Given the description of an element on the screen output the (x, y) to click on. 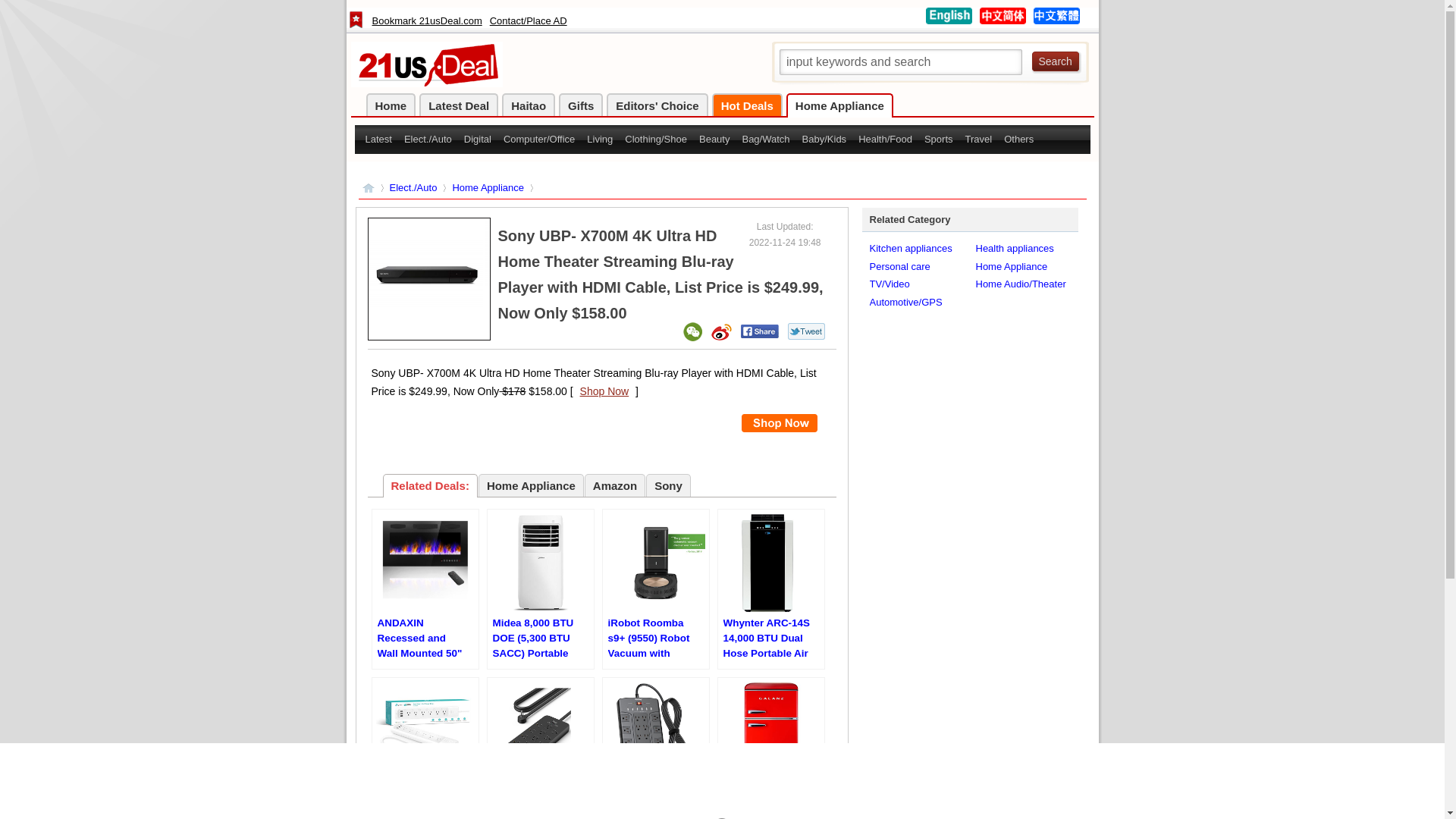
Gifts Element type: text (580, 105)
21usDeal.com Element type: hover (1055, 20)
TV/Video Element type: text (889, 283)
Baby/Kids Element type: text (824, 139)
Health/Food Element type: text (885, 139)
21usDeal.com Element type: text (368, 187)
Sports Element type: text (938, 139)
Health appliances Element type: text (1014, 248)
Living Element type: text (599, 139)
Search Element type: text (1055, 61)
Home Audio/Theater Element type: text (1020, 283)
Bookmark 21usDeal.com Element type: text (426, 23)
Shop Now Element type: hover (779, 423)
Home Element type: text (390, 105)
Sony Element type: text (668, 485)
Beauty Element type: text (714, 139)
Home Appliance Element type: text (839, 105)
Share on FaceBook Element type: hover (759, 331)
Contact/Place AD Element type: text (528, 23)
Others Element type: text (1018, 139)
Share on Twitter Element type: hover (805, 331)
Kitchen appliances Element type: text (910, 248)
Clothing/Shoe Element type: text (655, 139)
Share on Weibo Element type: hover (721, 332)
Related Deals: Element type: text (429, 485)
Hot Deals Element type: text (747, 105)
Bag/Watch Element type: text (765, 139)
Computer/Office Element type: text (538, 139)
21usDeal.com Element type: hover (1002, 20)
Latest Element type: text (378, 139)
Latest Deal Element type: text (458, 105)
Automotive/GPS Element type: text (905, 301)
 input keywords and search Element type: text (900, 62)
21usDeal.com Element type: hover (948, 20)
Home Appliance Element type: text (487, 187)
Personal care Element type: text (899, 266)
Home Appliance Element type: text (1011, 266)
Share on Wechat Element type: hover (691, 331)
Home Appliance Element type: text (530, 485)
Elect./Auto Element type: text (428, 139)
Elect./Auto Element type: text (413, 187)
Amazon Element type: text (614, 485)
21usDeal.com Element type: hover (426, 83)
Haitao Element type: text (528, 105)
Travel Element type: text (978, 139)
Digital Element type: text (477, 139)
Editors' Choice Element type: text (656, 105)
Shop Now Element type: text (604, 391)
